Given the description of an element on the screen output the (x, y) to click on. 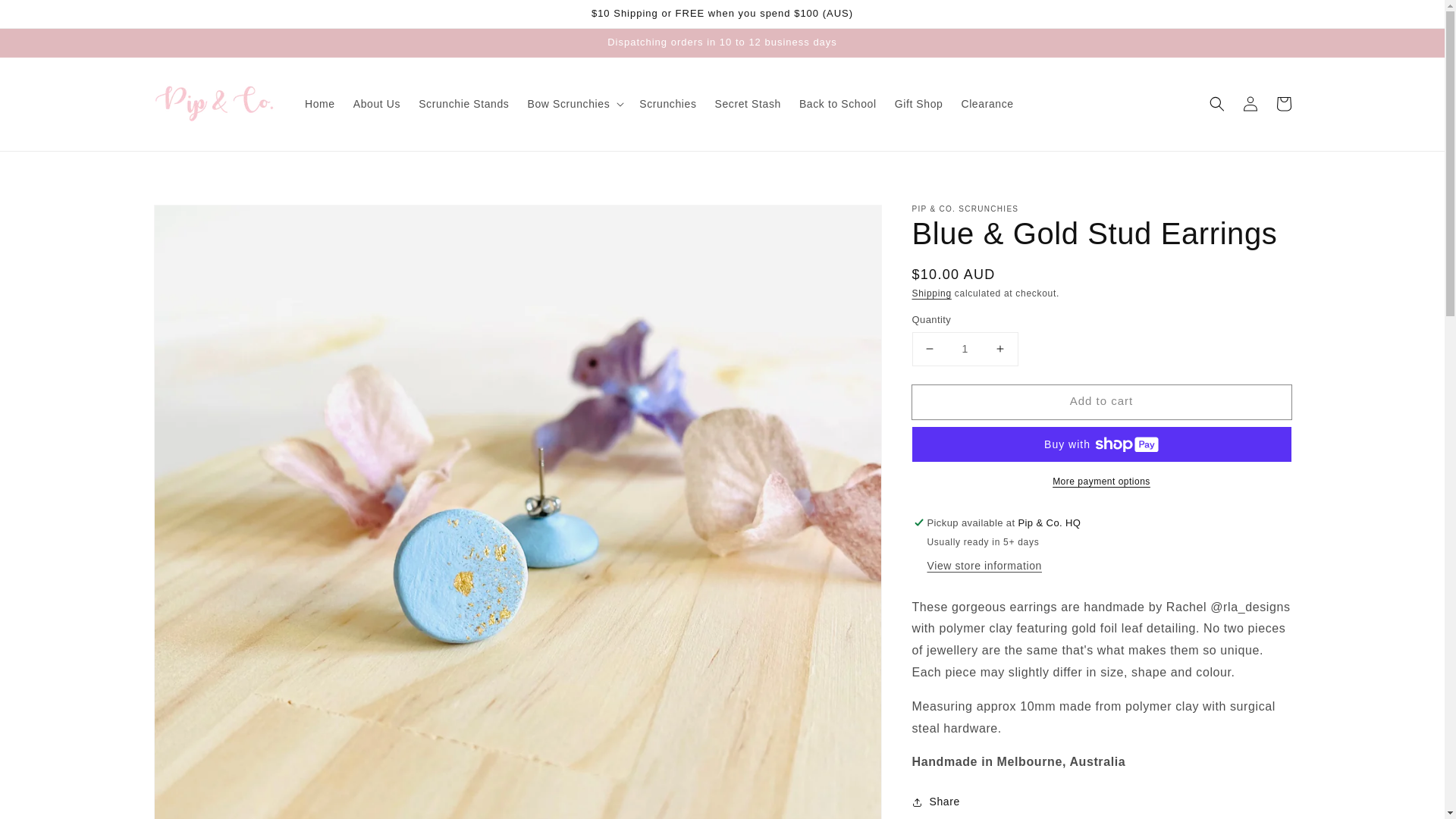
Log in (1249, 103)
About Us (376, 103)
Scrunchie Stands (463, 103)
Back to School (837, 103)
Secret Stash (748, 103)
Cart (1283, 103)
Scrunchies (667, 103)
Skip to product information (198, 220)
Gift Shop (918, 103)
Clearance (987, 103)
Skip to content (45, 16)
1 (964, 348)
Home (319, 103)
